Given the description of an element on the screen output the (x, y) to click on. 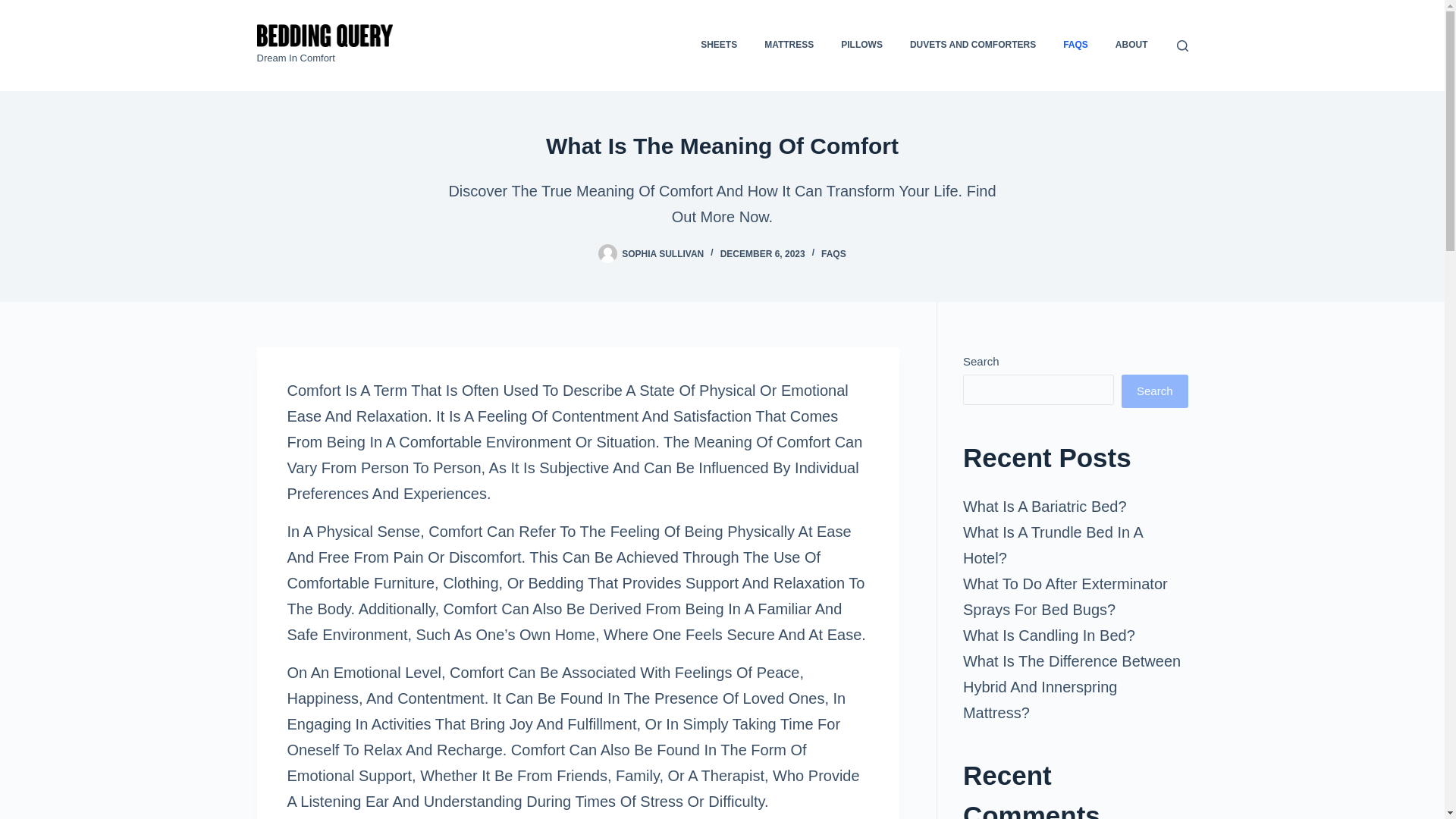
what is the meaning of comfort (722, 145)
Search (1154, 390)
Skip To Content (15, 7)
Posts by Sophia Sullivan (662, 253)
FAQS (833, 253)
DUVETS AND COMFORTERS (972, 45)
SOPHIA SULLIVAN (662, 253)
What Is A Trundle Bed In A Hotel? (1052, 545)
What Is A Bariatric Bed? (1044, 506)
